Given the description of an element on the screen output the (x, y) to click on. 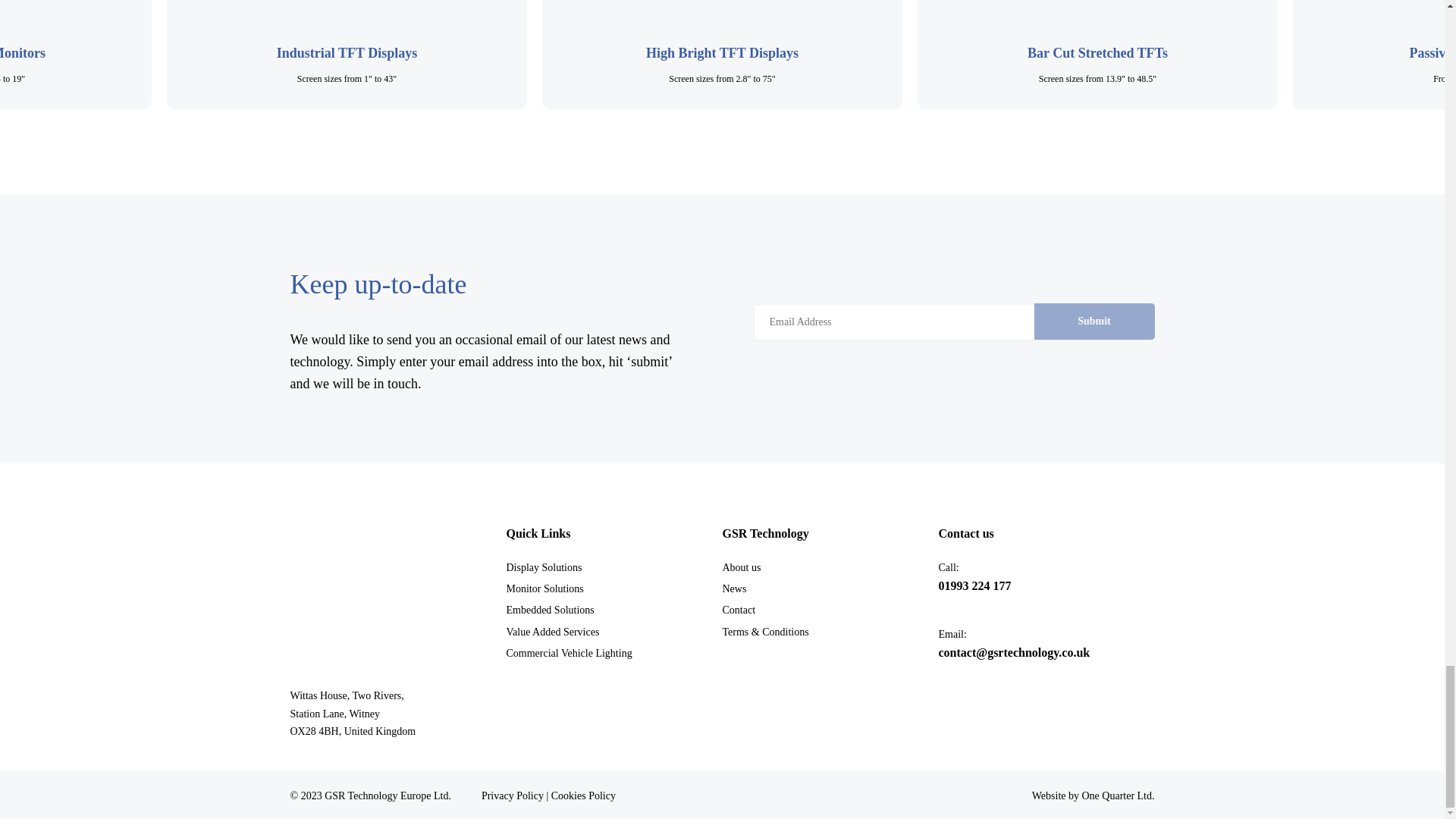
Submit (1093, 321)
